Given the description of an element on the screen output the (x, y) to click on. 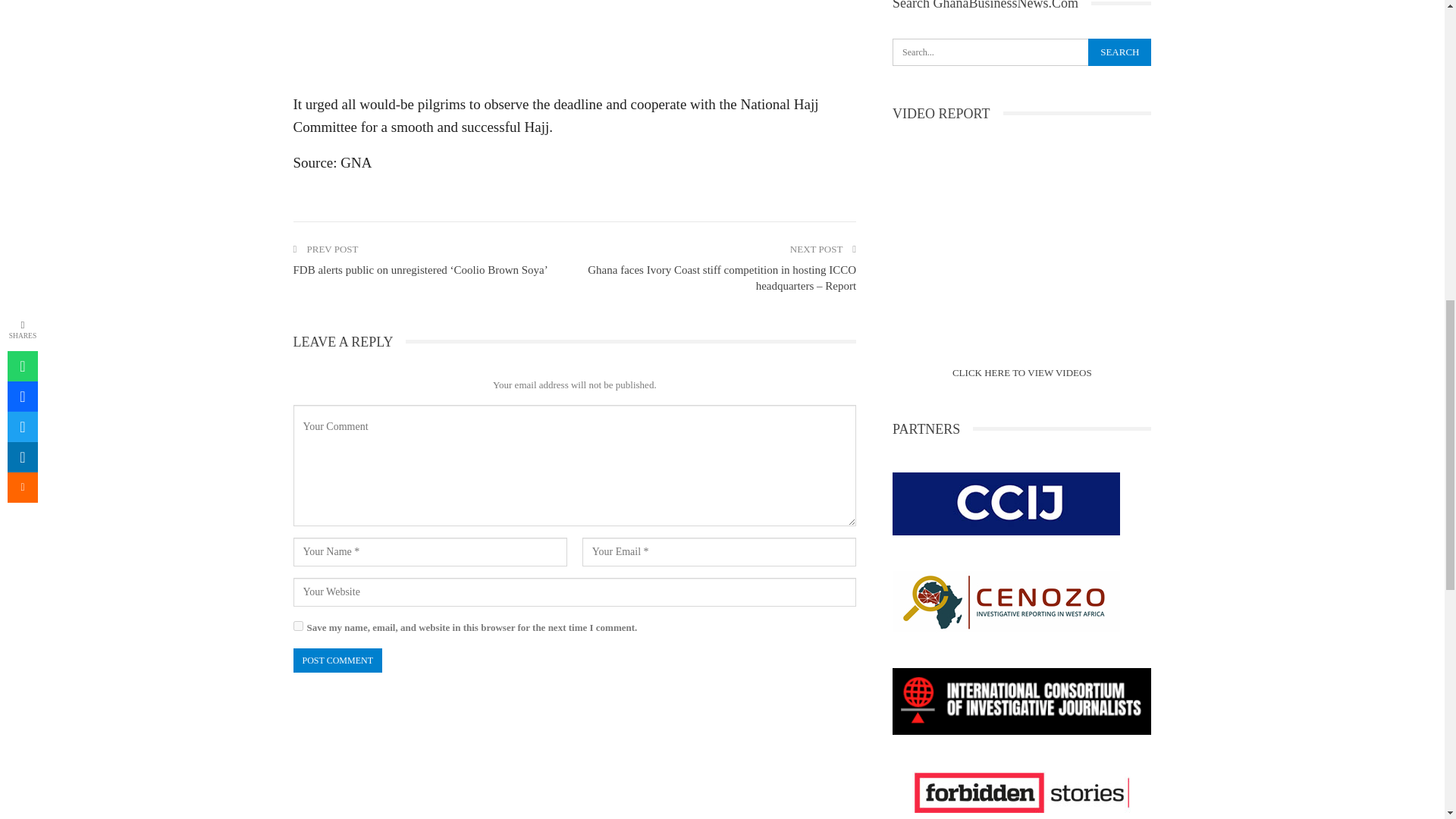
Advertisement (574, 42)
yes (297, 625)
Post Comment (336, 659)
Search (1119, 52)
Search (1119, 52)
